Given the description of an element on the screen output the (x, y) to click on. 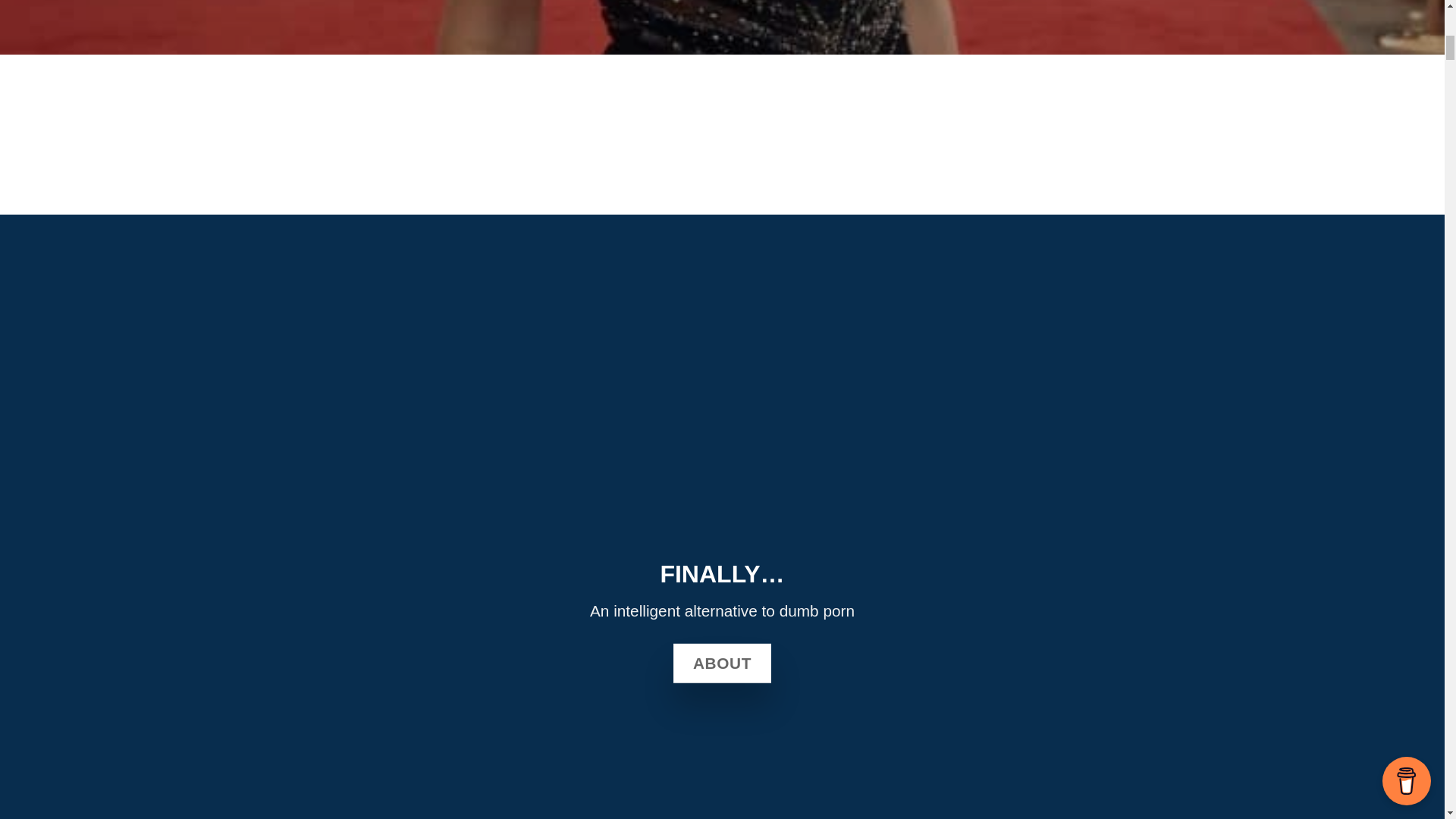
ABOUT (721, 662)
